Given the description of an element on the screen output the (x, y) to click on. 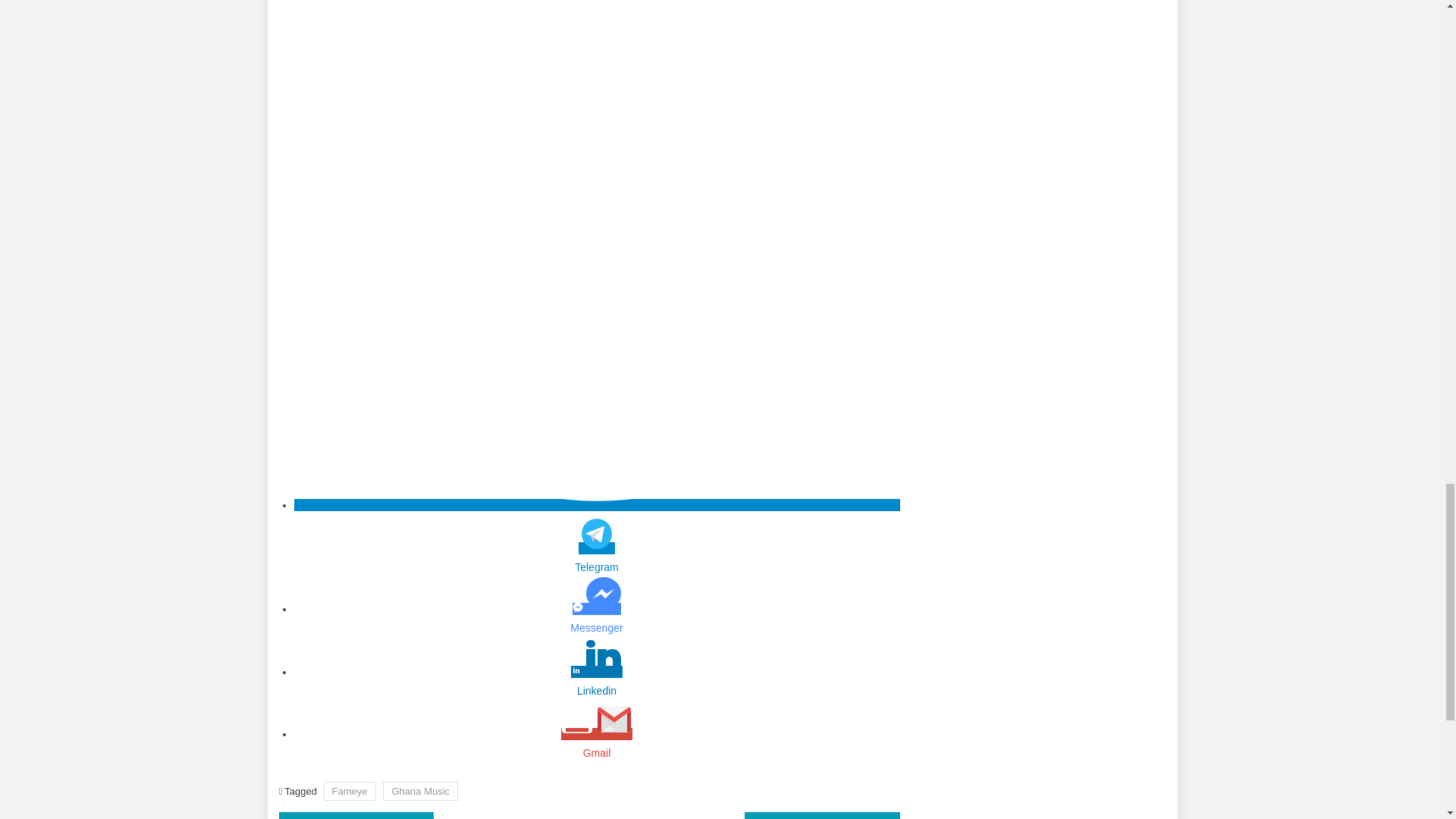
Gmail (596, 745)
Messenger (596, 628)
Messenger (596, 620)
Ghana Music (420, 791)
Telegram (596, 567)
JOTA LEAVES CELTIC (821, 815)
Fameye (349, 791)
Linkedin (596, 691)
Linkedin (596, 683)
Gmail (596, 752)
